Given the description of an element on the screen output the (x, y) to click on. 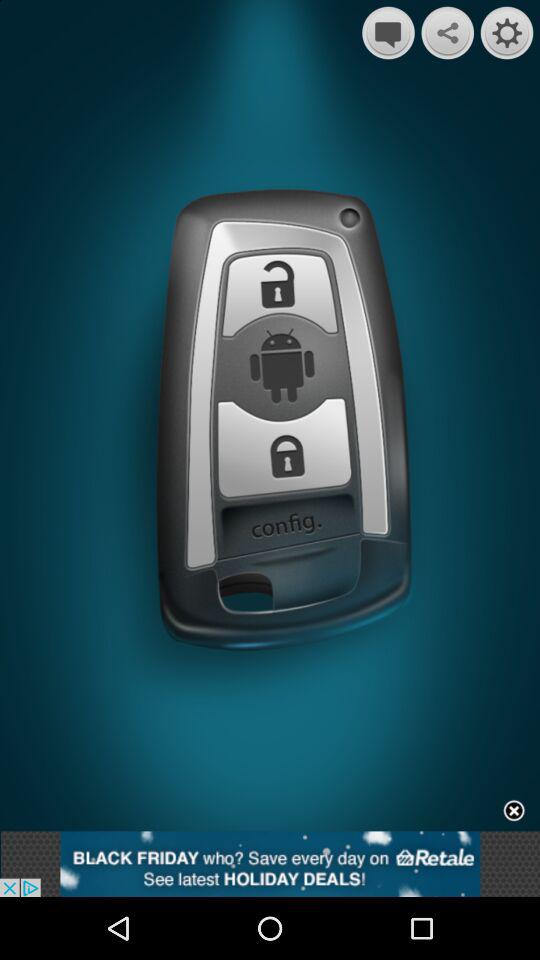
go to lock (279, 297)
